Given the description of an element on the screen output the (x, y) to click on. 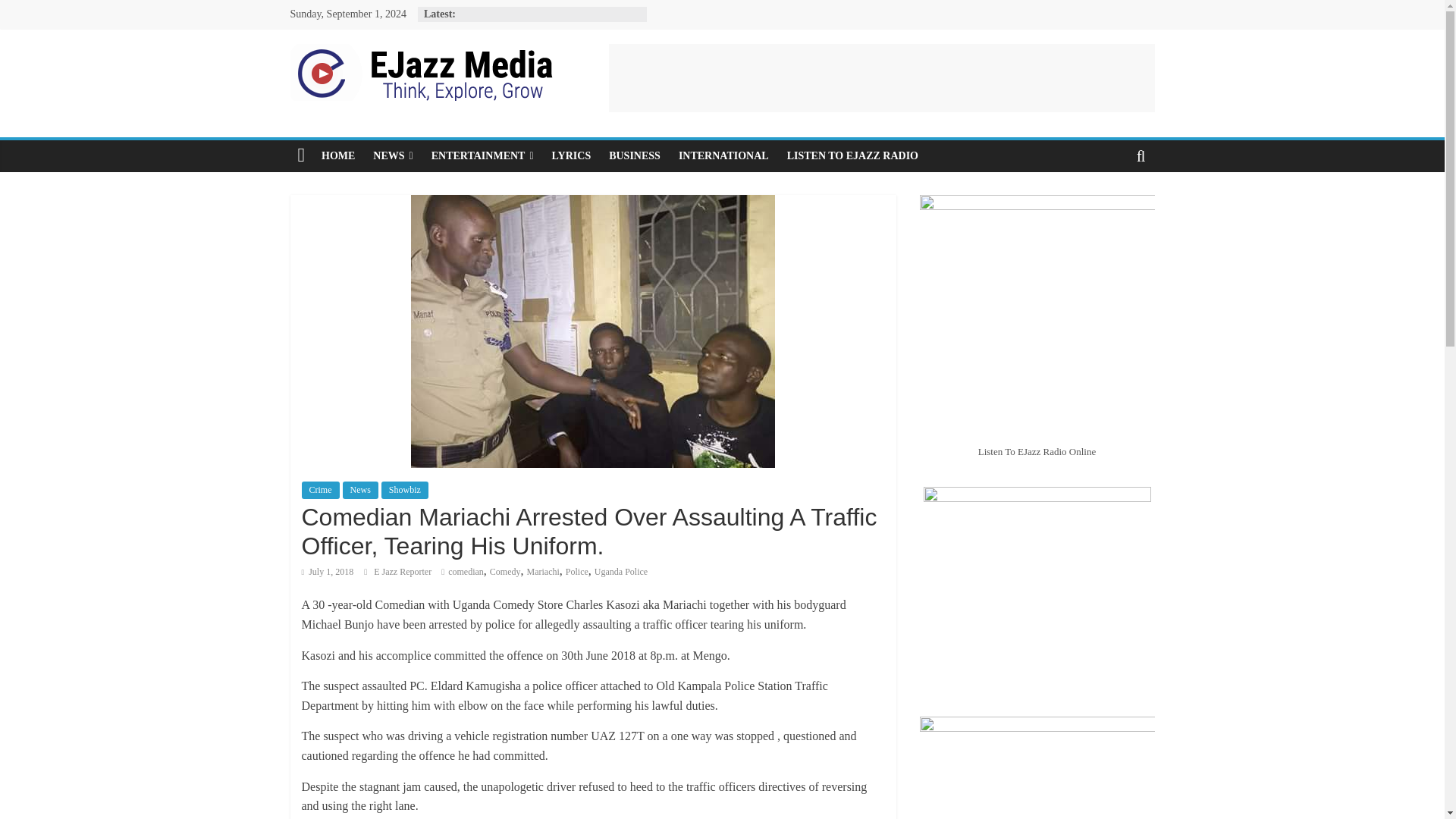
Mariachi (543, 571)
July 1, 2018 (327, 571)
7:08 am (327, 571)
ENTERTAINMENT (482, 155)
Police (577, 571)
News (360, 489)
NEWS (393, 155)
comedian (465, 571)
BUSINESS (634, 155)
Crime (320, 489)
